Given the description of an element on the screen output the (x, y) to click on. 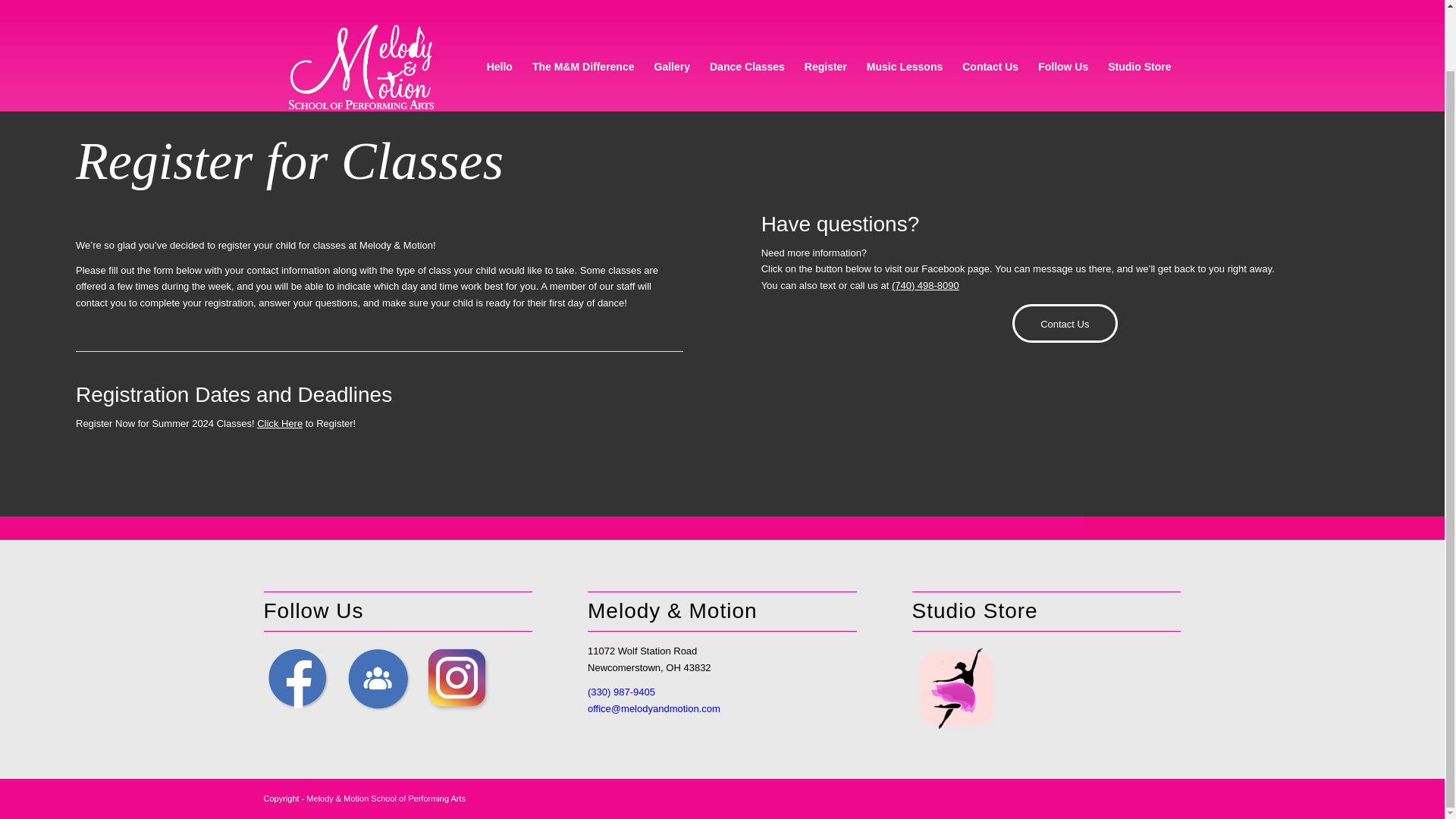
Studio Store (1138, 22)
Music Lessons (904, 22)
Contact Us (989, 22)
Contact Us (1064, 323)
Dance Classes (747, 22)
Click Here (279, 423)
Follow Us (1062, 22)
Hello (499, 22)
Register (825, 22)
Gallery (672, 22)
